Given the description of an element on the screen output the (x, y) to click on. 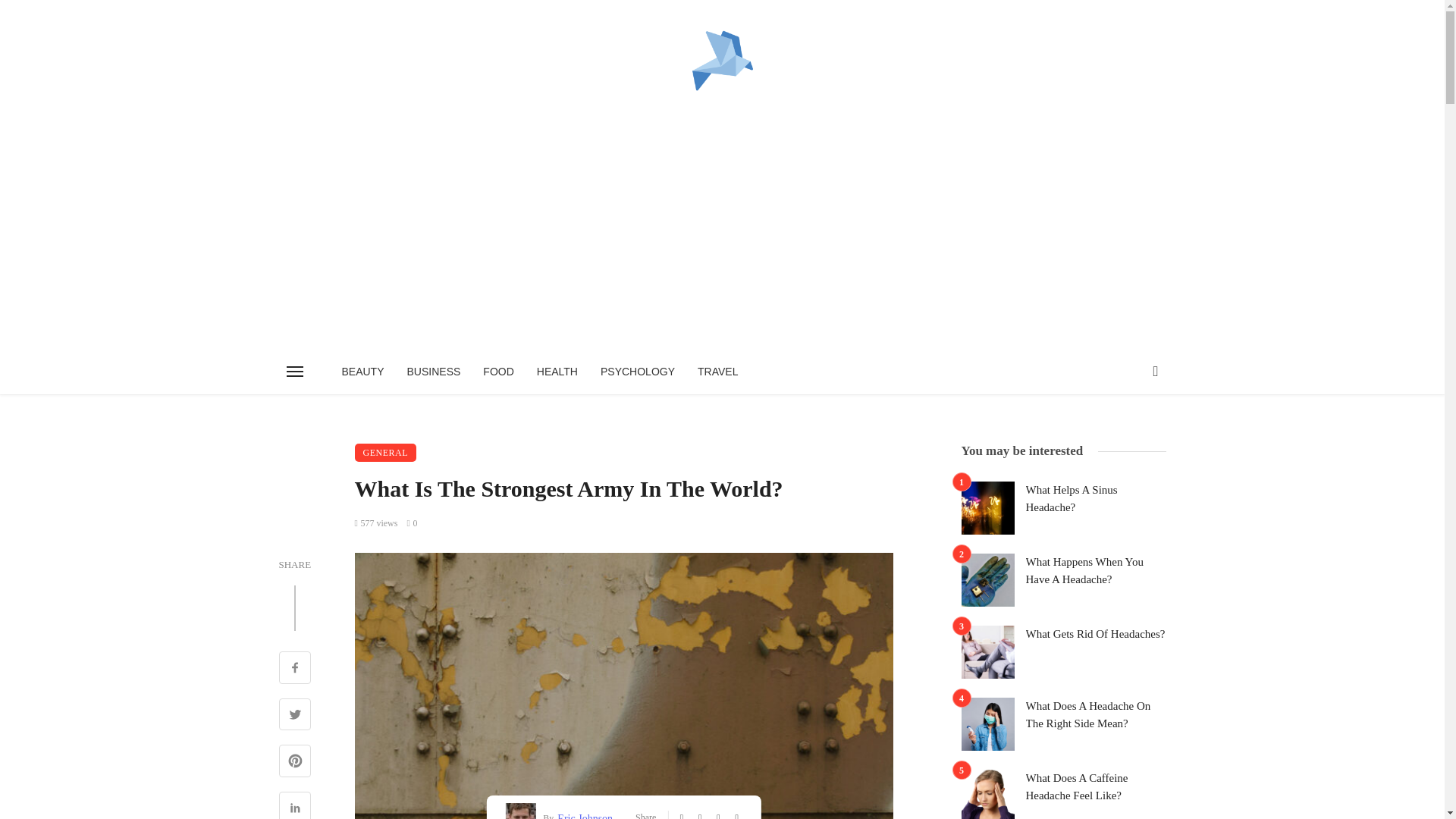
Eric Johnson (582, 814)
0 Comments (411, 522)
FOOD (497, 370)
Share on Facebook (295, 669)
Posts by Eric Johnson (582, 814)
0 (411, 522)
GENERAL (385, 452)
Share on Linkedin (295, 805)
PSYCHOLOGY (637, 370)
Share on Pinterest (295, 762)
Share on Twitter (295, 716)
BEAUTY (363, 370)
BUSINESS (433, 370)
TRAVEL (717, 370)
